Given the description of an element on the screen output the (x, y) to click on. 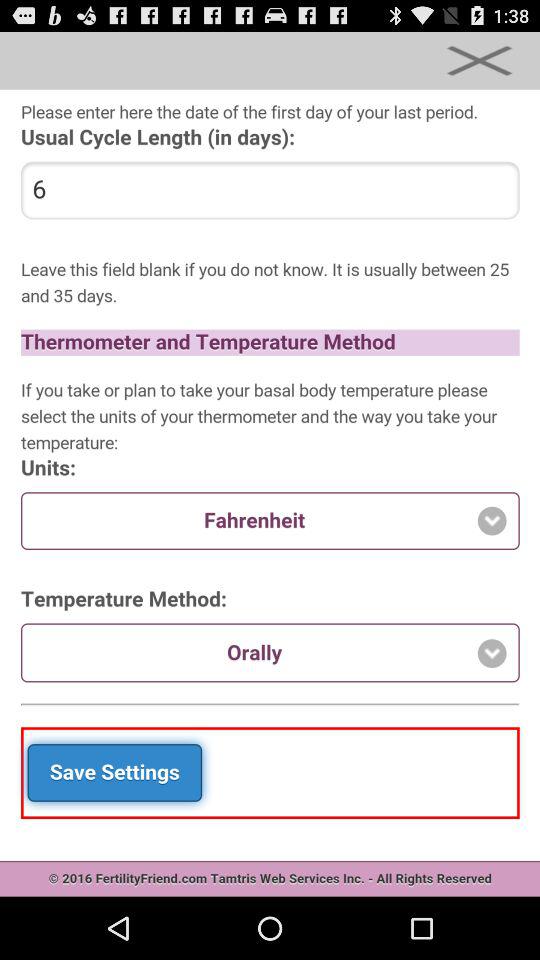
main screen (270, 493)
